Given the description of an element on the screen output the (x, y) to click on. 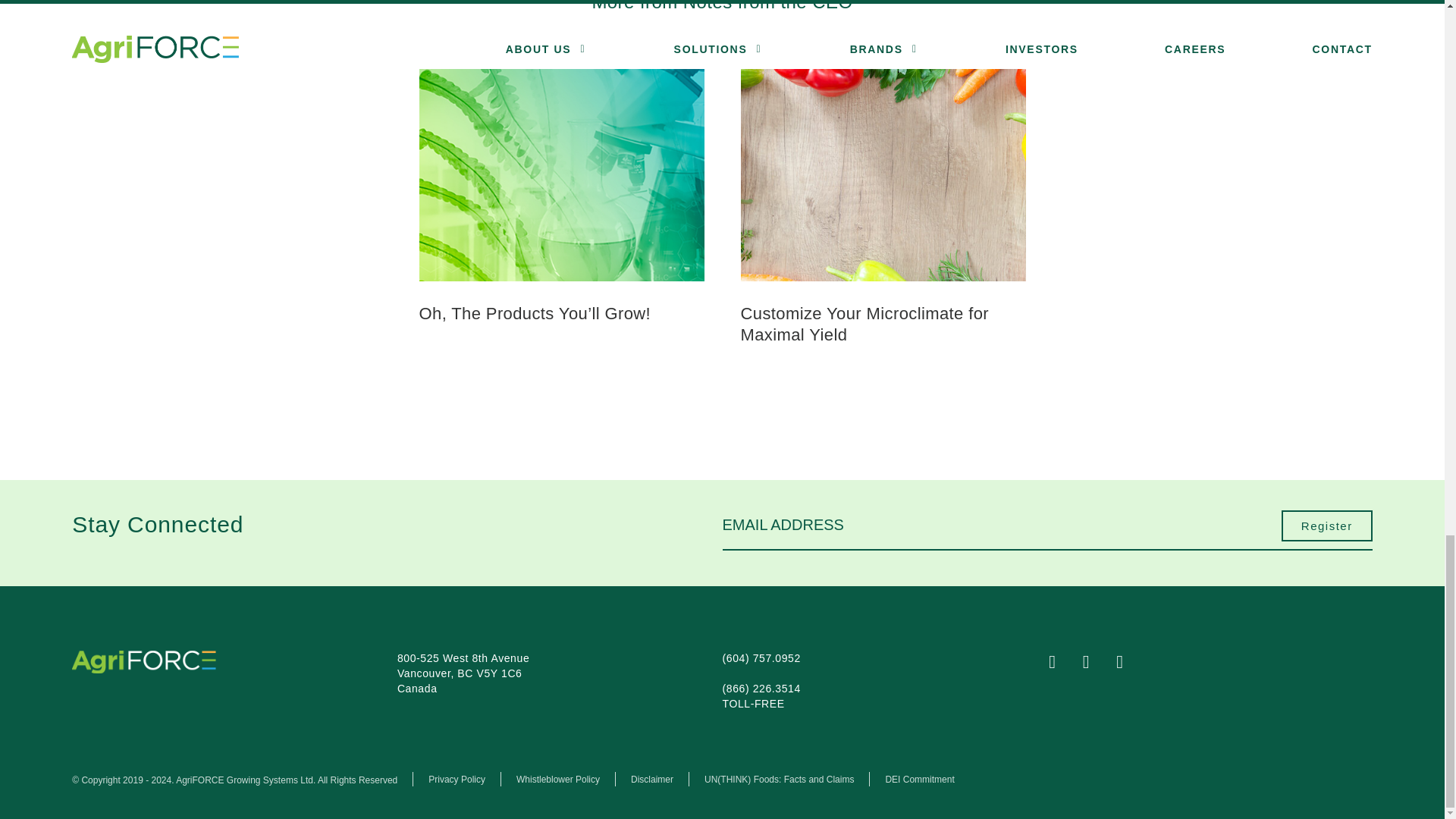
Disclaimer (651, 778)
Register (1327, 526)
Whistleblower Policy (557, 778)
Register (1327, 526)
Privacy Policy (456, 778)
Like us on Facebook (1061, 663)
Follow us on Twitter (1096, 663)
DEI Commitment (919, 778)
Connect with us on LinkedIn (1129, 663)
Customize Your Microclimate for Maximal Yield (882, 323)
